Given the description of an element on the screen output the (x, y) to click on. 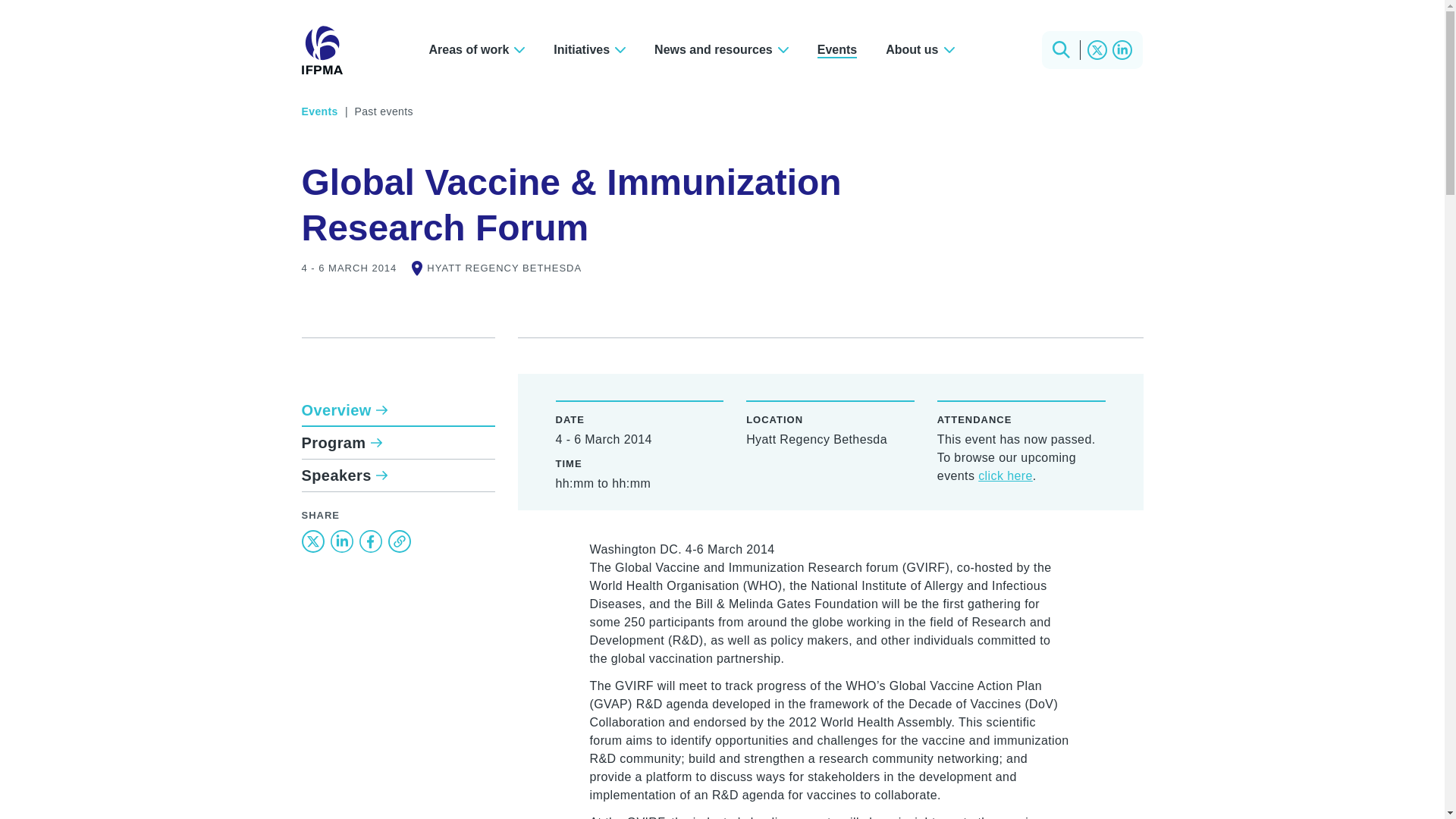
Initiatives (398, 442)
News and resources (589, 49)
Areas of work (721, 49)
